Given the description of an element on the screen output the (x, y) to click on. 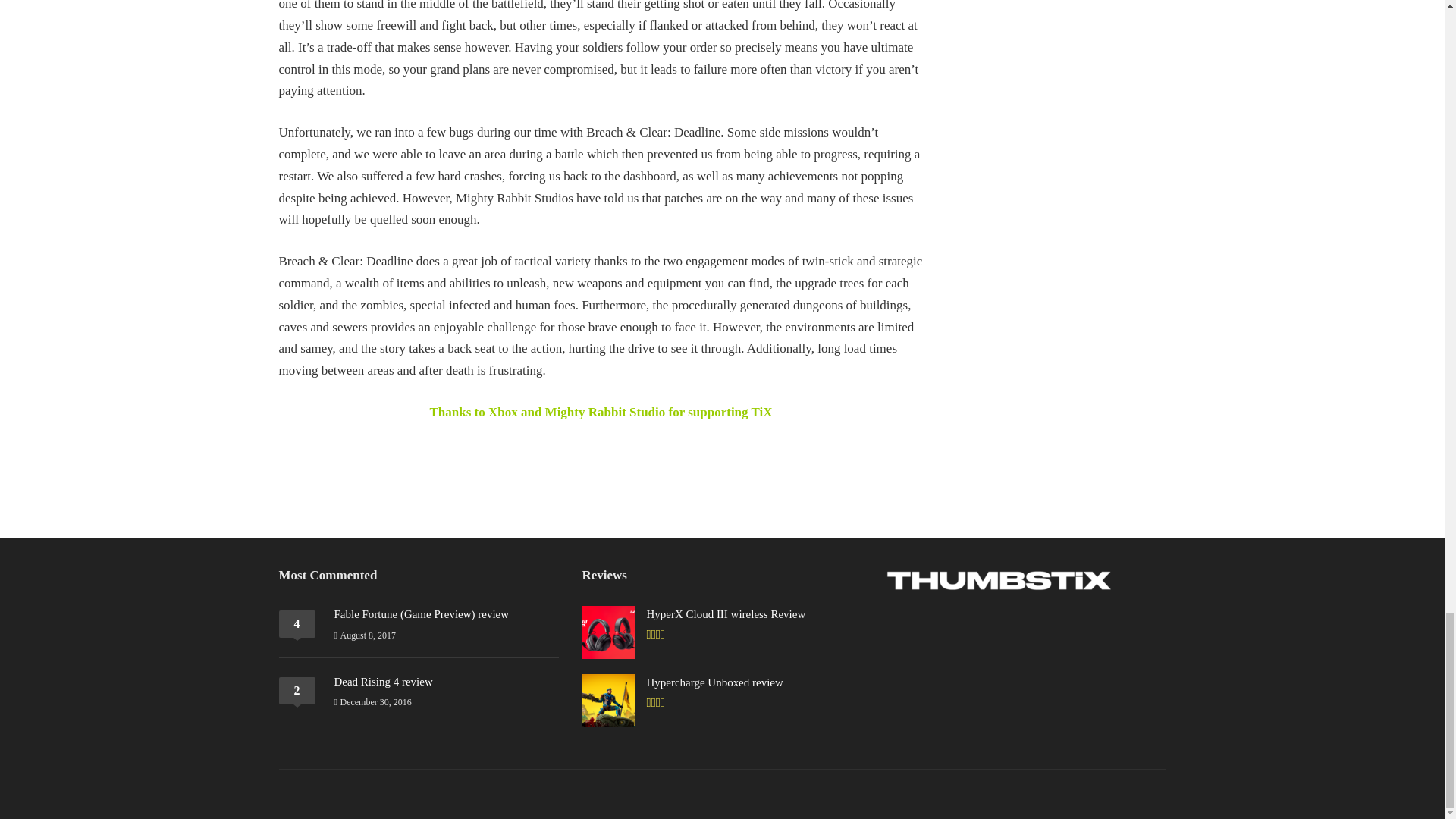
2 Comments (297, 690)
4 (297, 624)
December 30, 2016 at 8:06 pm (371, 701)
Hypercharge Unboxed review (714, 682)
Dead Rising 4 review (382, 682)
HyperX Cloud III wireless Review (725, 614)
2 (297, 690)
August 8, 2017 at 8:26 pm (364, 634)
4 Comments (297, 624)
